Given the description of an element on the screen output the (x, y) to click on. 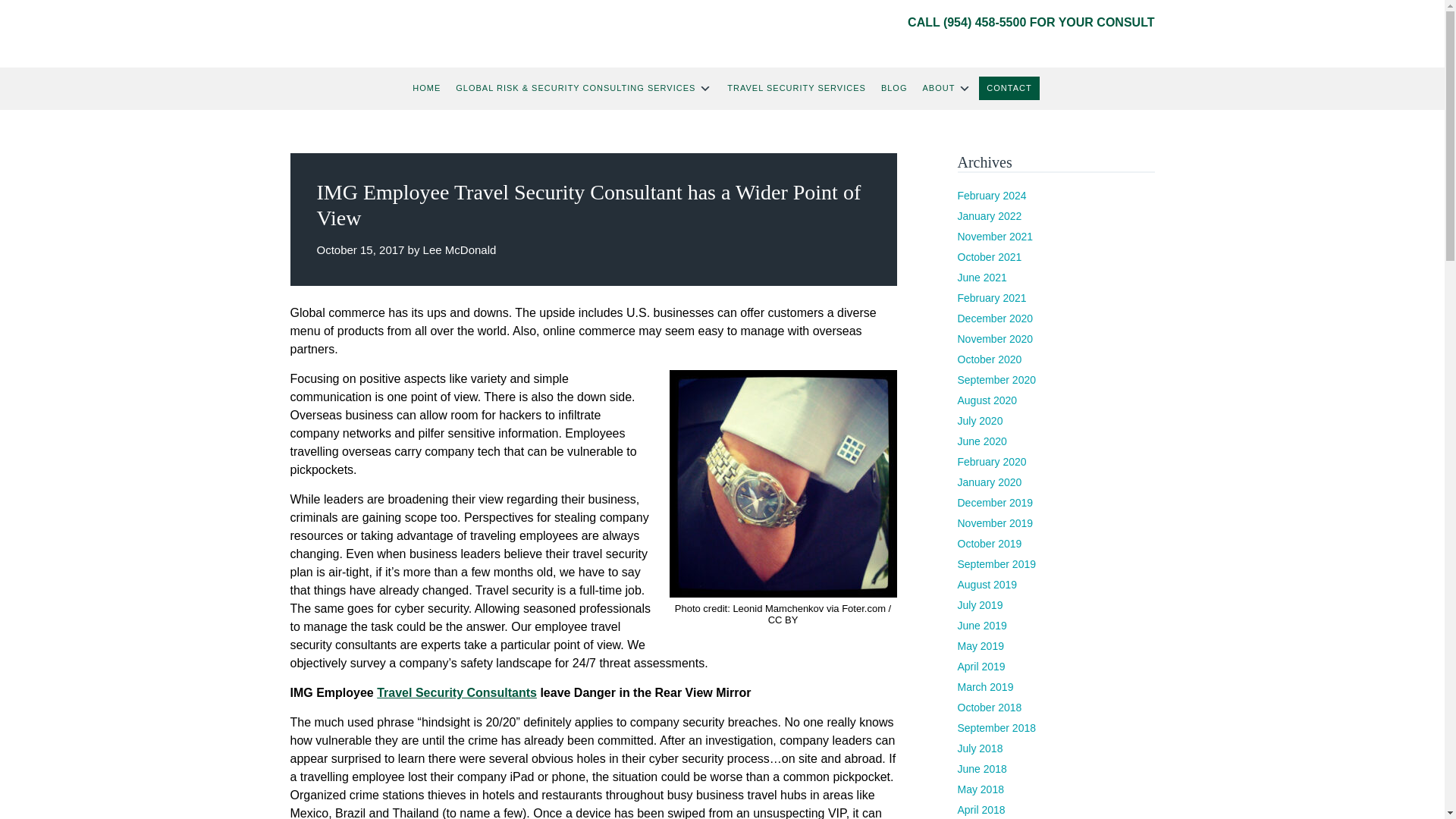
Contact Corporate Security Experts (1008, 87)
December 2019 (994, 502)
June 2021 (981, 277)
Call 954-458-5500 (984, 21)
TRAVEL SECURITY SERVICES (796, 87)
November 2021 (994, 236)
February 2024 (991, 195)
Blog (894, 87)
February 2020 (991, 461)
August 2020 (986, 399)
July 2020 (979, 420)
November 2019 (994, 522)
January 2020 (989, 481)
ABOUT (946, 88)
October 2021 (989, 256)
